Given the description of an element on the screen output the (x, y) to click on. 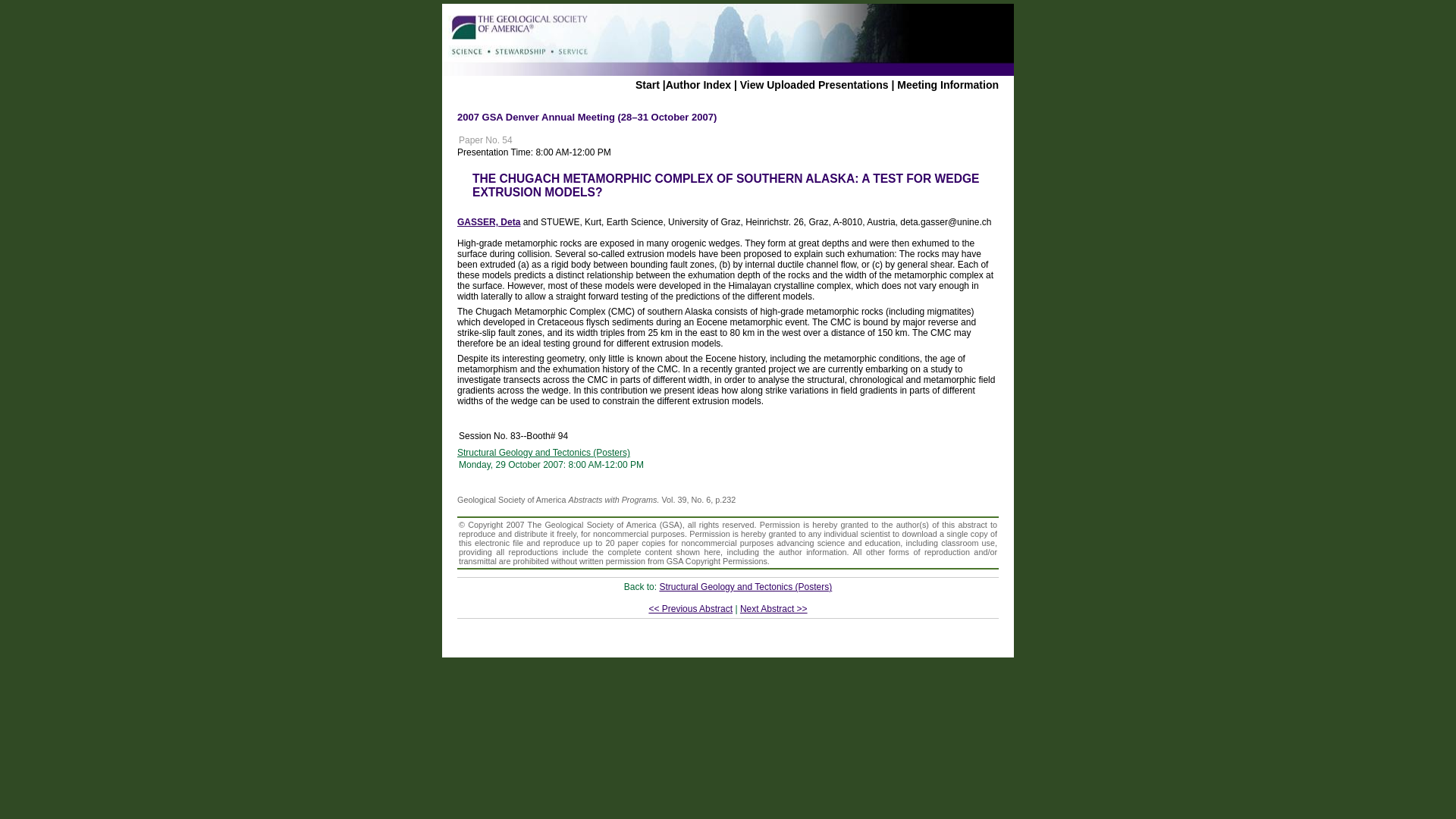
View Uploaded Presentations (813, 84)
Author Index (697, 84)
GASSER, Deta (488, 222)
Meeting Information (947, 84)
Start (646, 84)
